Given the description of an element on the screen output the (x, y) to click on. 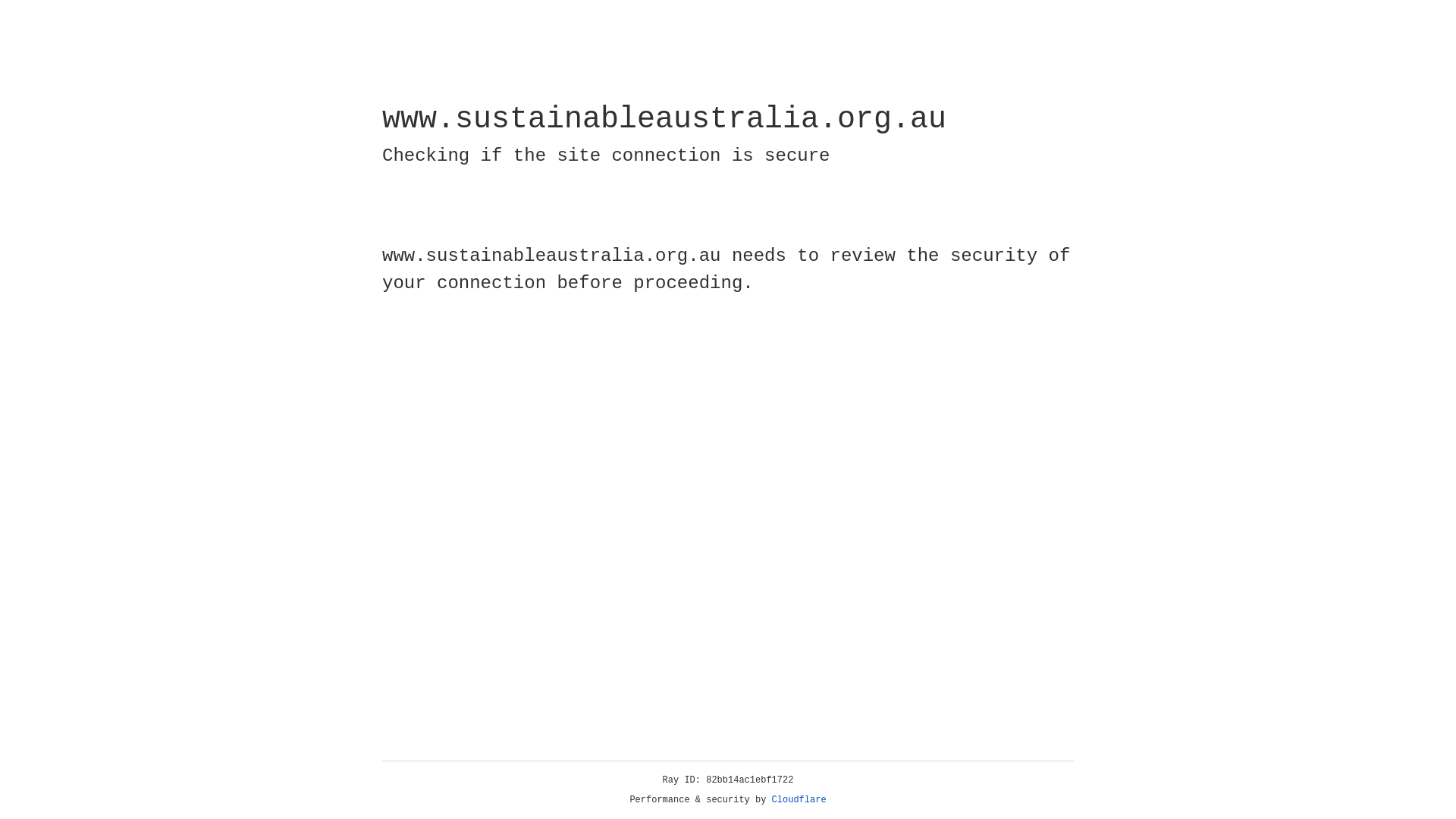
Cloudflare Element type: text (798, 799)
